Given the description of an element on the screen output the (x, y) to click on. 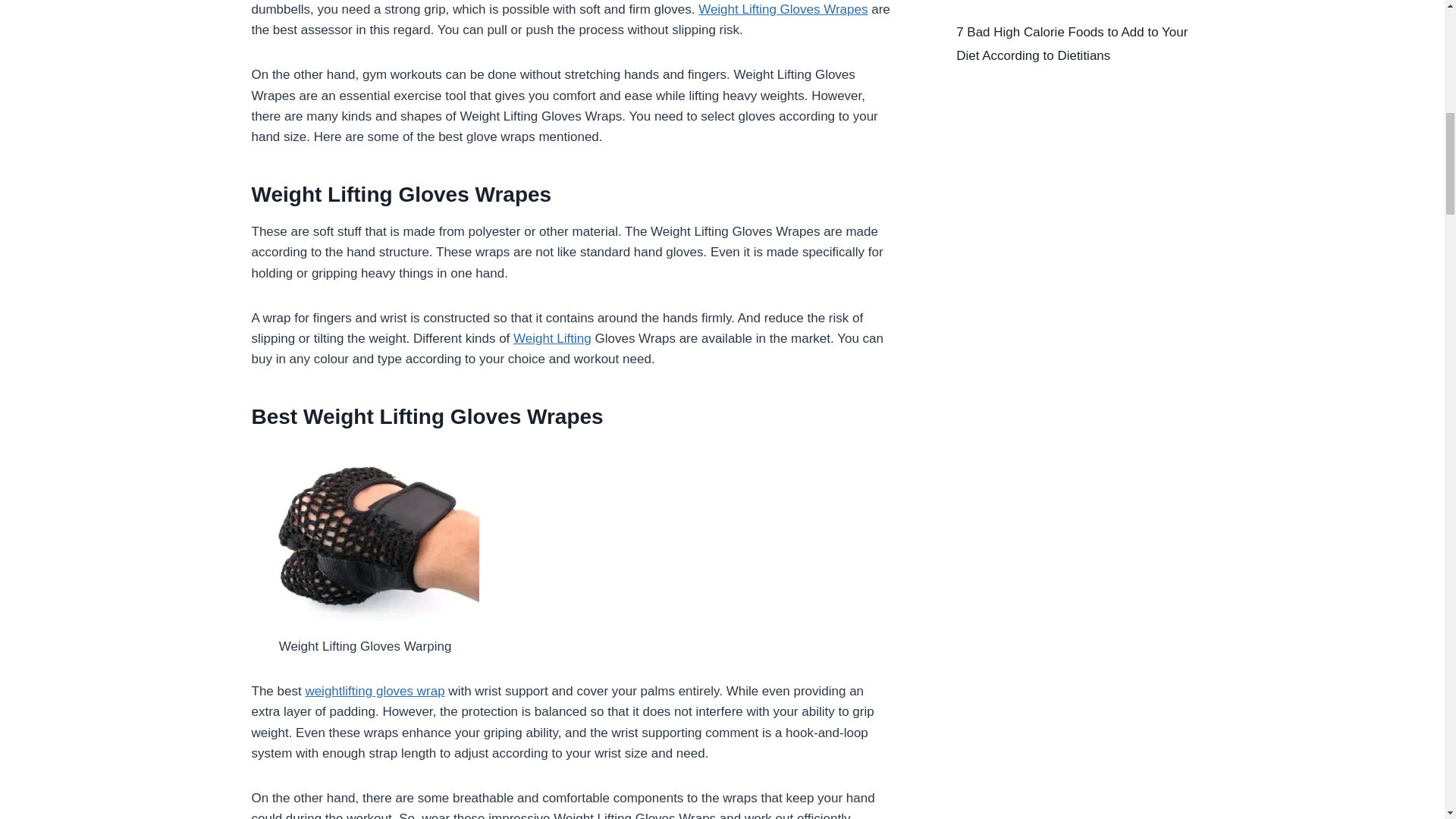
weightlifting gloves wrap (374, 690)
Weight Lifting (552, 338)
Weight Lifting Gloves Wrapes (782, 9)
